Given the description of an element on the screen output the (x, y) to click on. 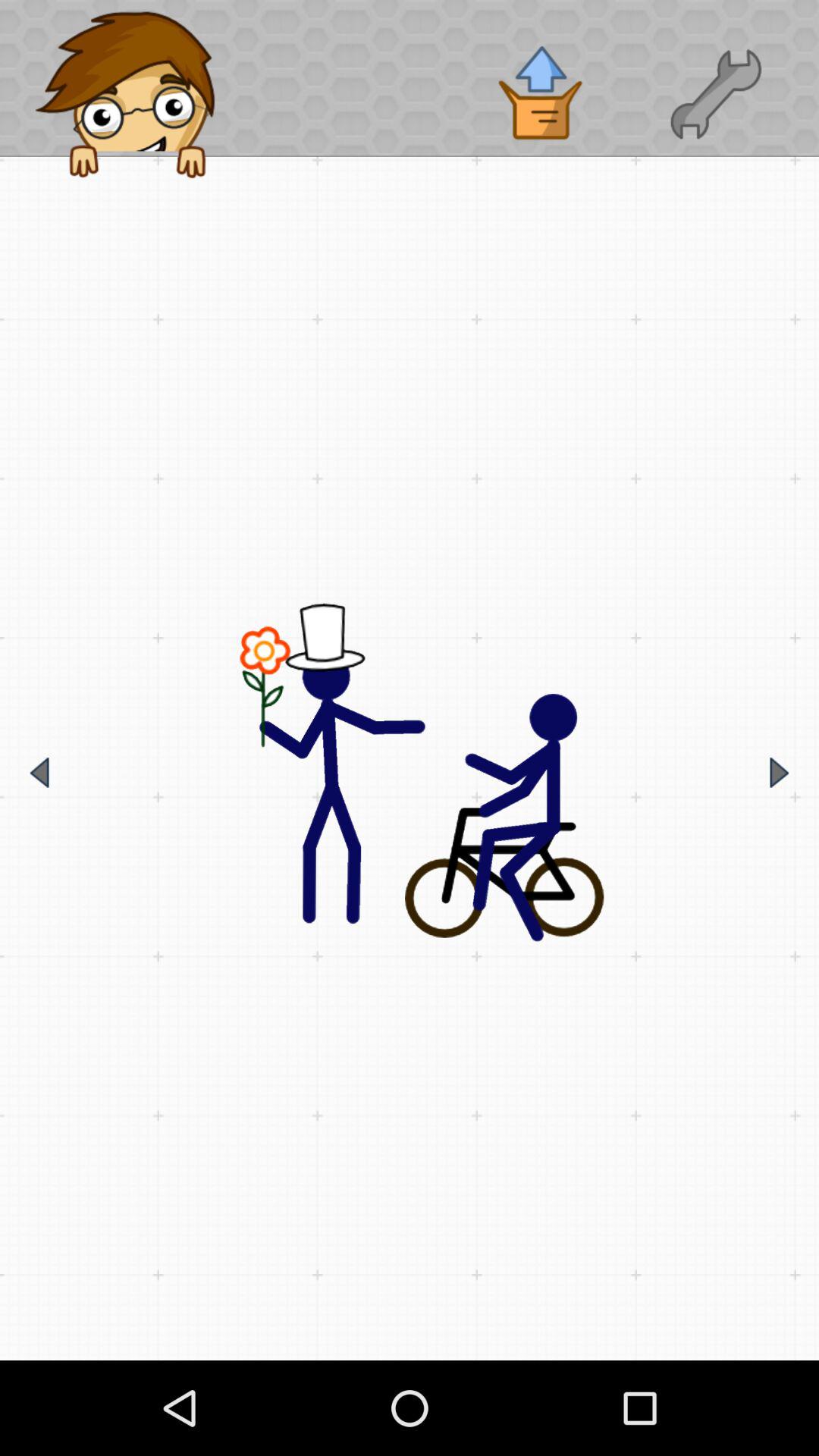
go to next option (779, 772)
